Given the description of an element on the screen output the (x, y) to click on. 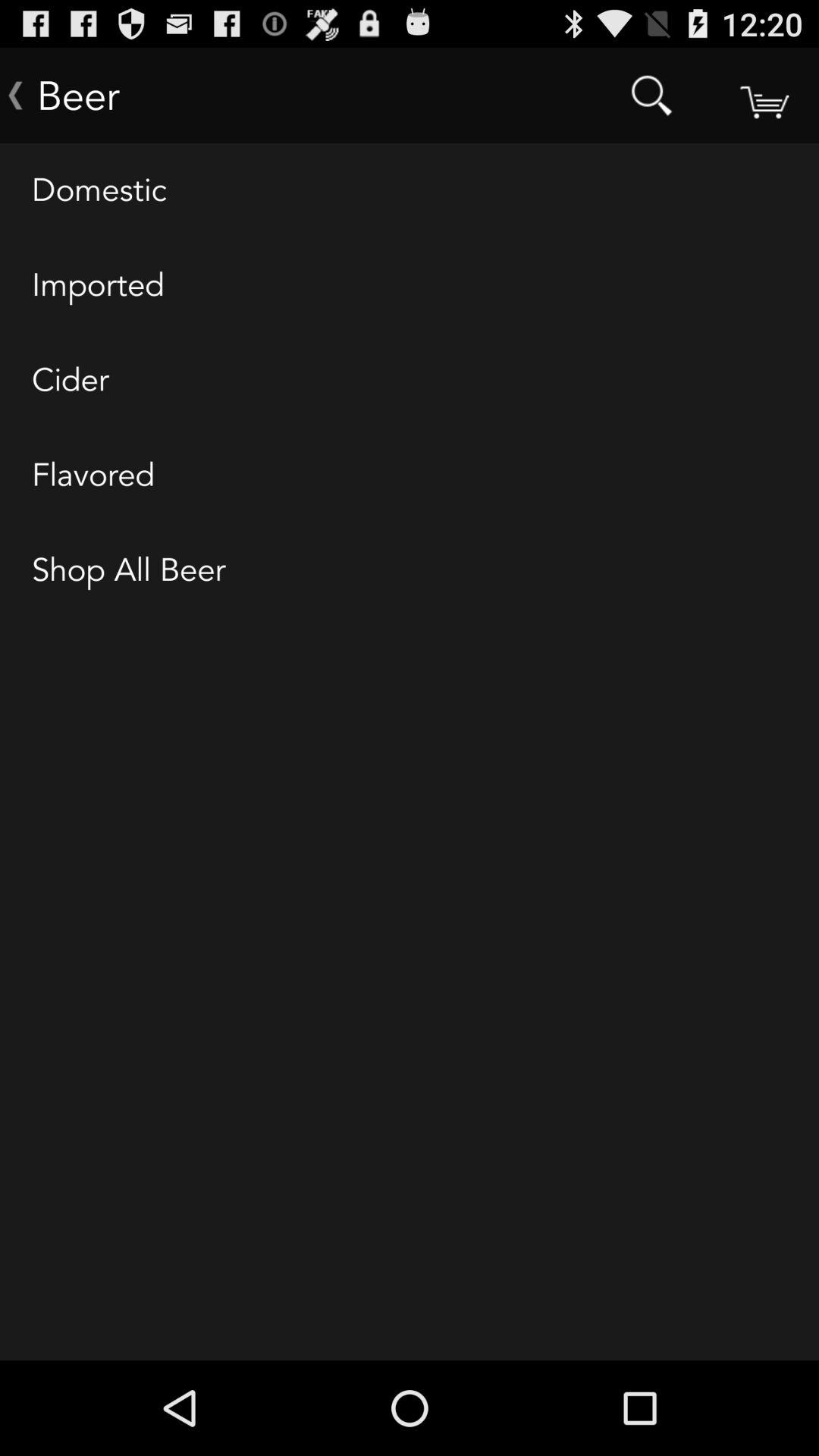
go to directions (763, 95)
